Given the description of an element on the screen output the (x, y) to click on. 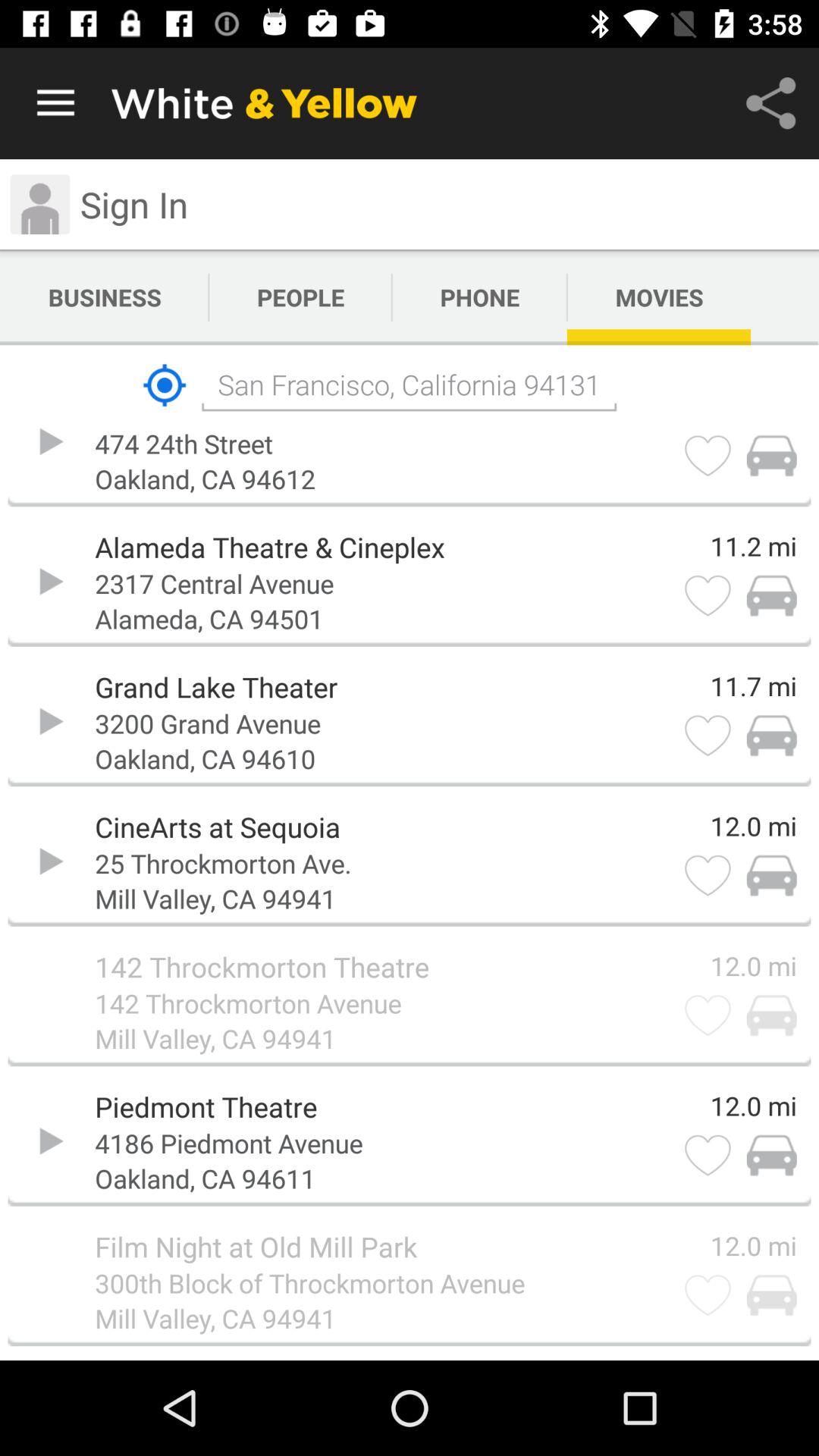
launch the icon next to the san francisco california (164, 385)
